Given the description of an element on the screen output the (x, y) to click on. 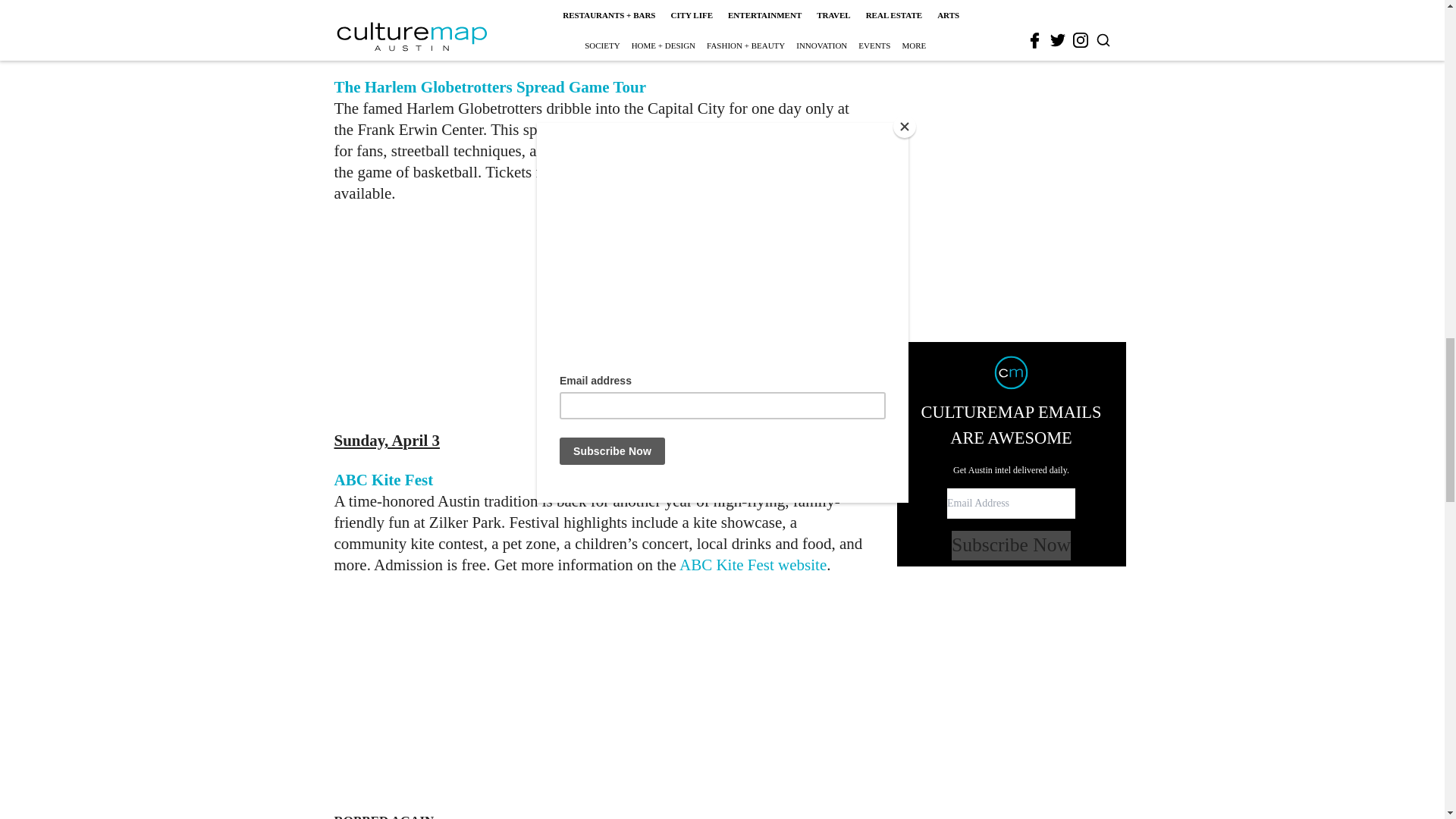
3rd party ad content (600, 316)
3rd party ad content (702, 696)
